Given the description of an element on the screen output the (x, y) to click on. 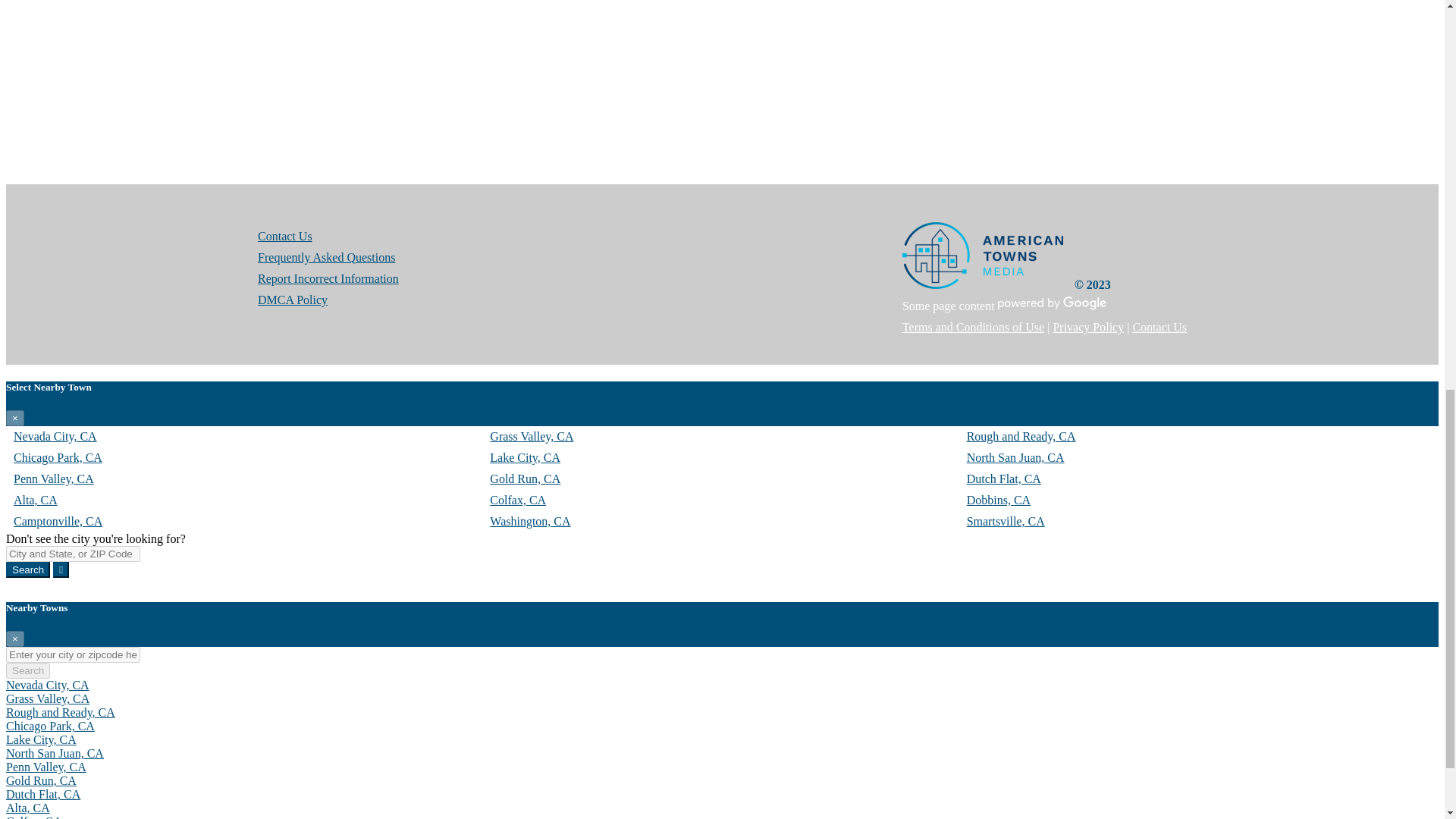
North San Juan, CA (1015, 457)
Terms and Conditions of Use (972, 327)
Report Incorrect Information (327, 278)
Grass Valley, CA (46, 698)
Penn Valley, CA (53, 478)
Washington, CA (529, 521)
Lake City, CA (41, 739)
Chicago Park, CA (49, 725)
Nevada City, CA (46, 684)
DMCA Policy (292, 299)
Chicago Park, CA (57, 457)
Grass Valley, CA (531, 436)
Search (27, 569)
Privacy Policy (1088, 327)
Search (27, 670)
